Given the description of an element on the screen output the (x, y) to click on. 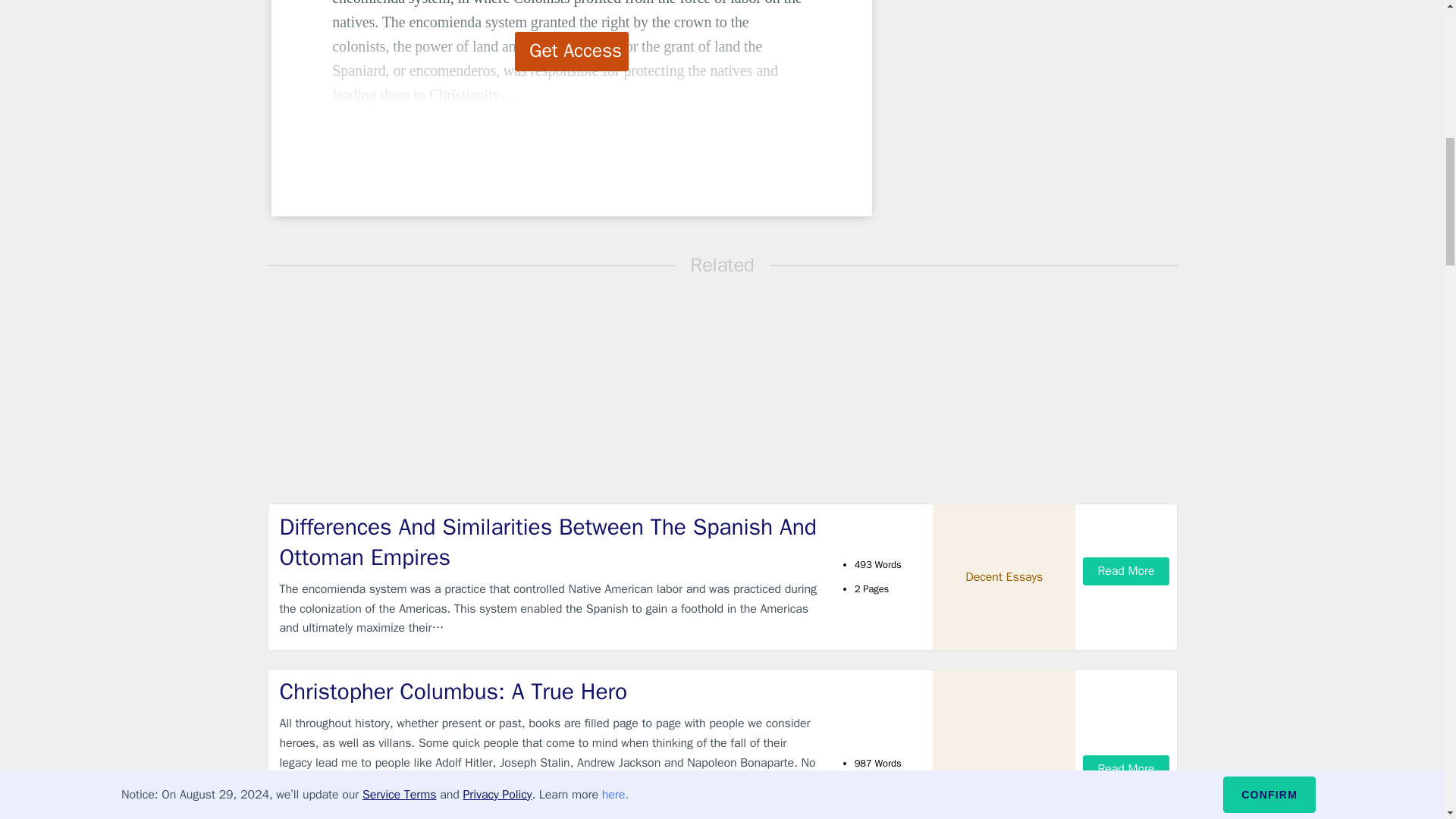
Christopher Columbus: A True Hero (548, 691)
Get Access (571, 51)
Read More (1126, 768)
Read More (1126, 571)
